Given the description of an element on the screen output the (x, y) to click on. 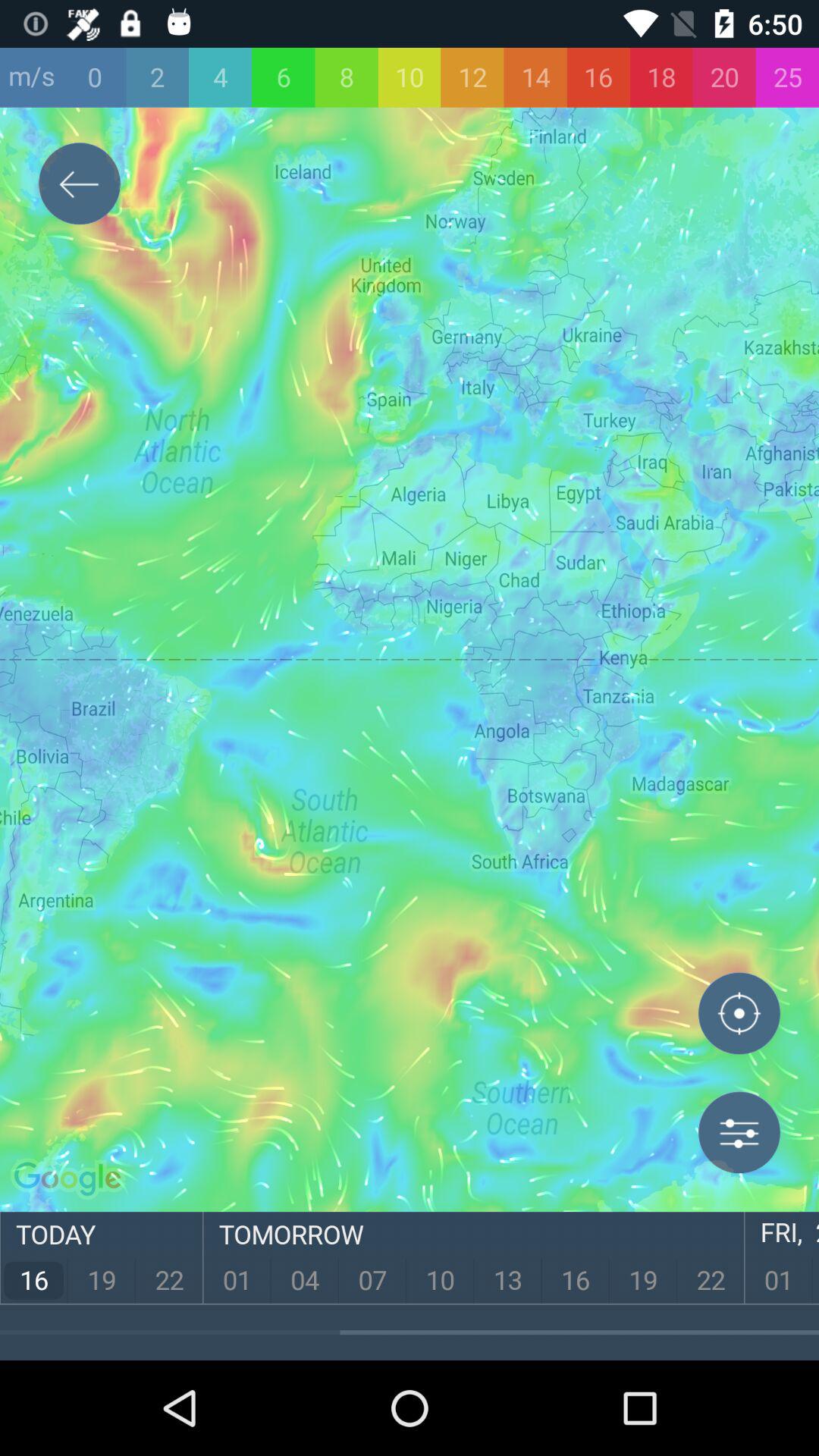
go to previous (79, 186)
